Given the description of an element on the screen output the (x, y) to click on. 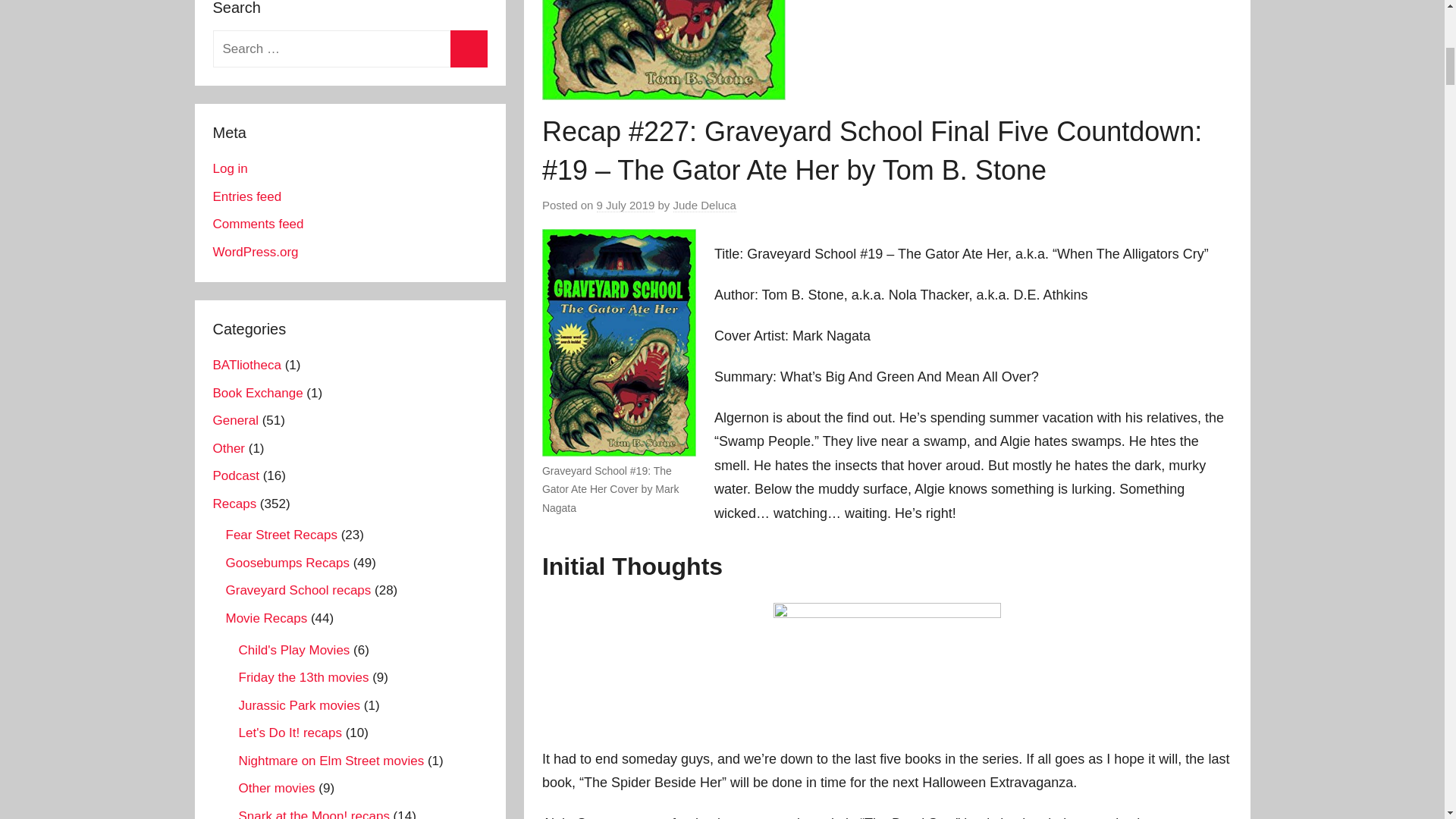
Jude Deluca (704, 205)
View all posts by Jude Deluca (704, 205)
Search (468, 48)
Log in (229, 168)
Entries feed (246, 196)
9 July 2019 (625, 205)
Search for: (349, 48)
